Given the description of an element on the screen output the (x, y) to click on. 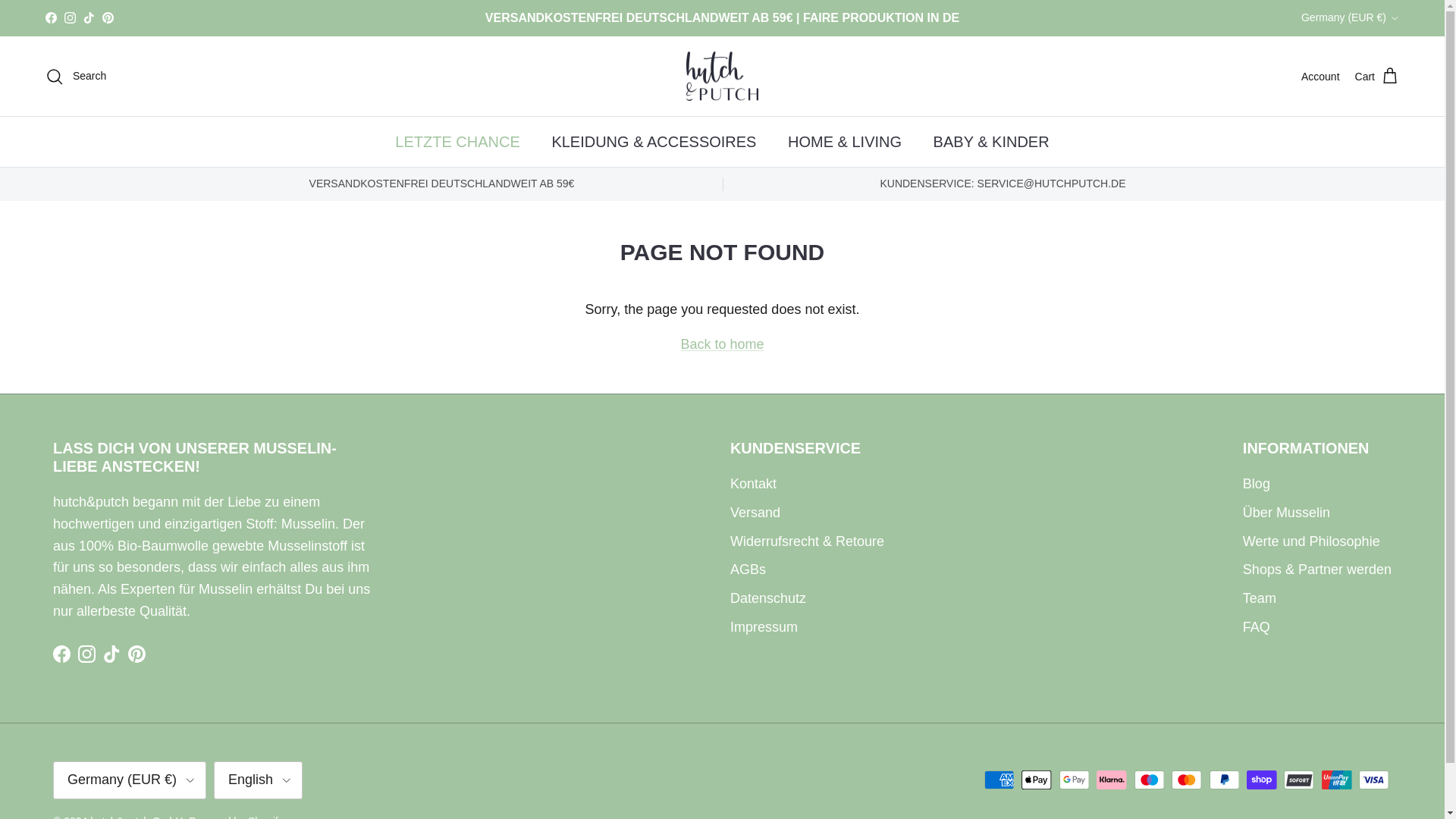
Google Pay (1074, 779)
American Express (999, 779)
PayPal (1224, 779)
TikTok (88, 17)
Apple Pay (1036, 779)
Pinterest (107, 17)
Account (1320, 76)
LETZTE CHANCE (456, 142)
Mastercard (1186, 779)
Facebook (50, 17)
